Given the description of an element on the screen output the (x, y) to click on. 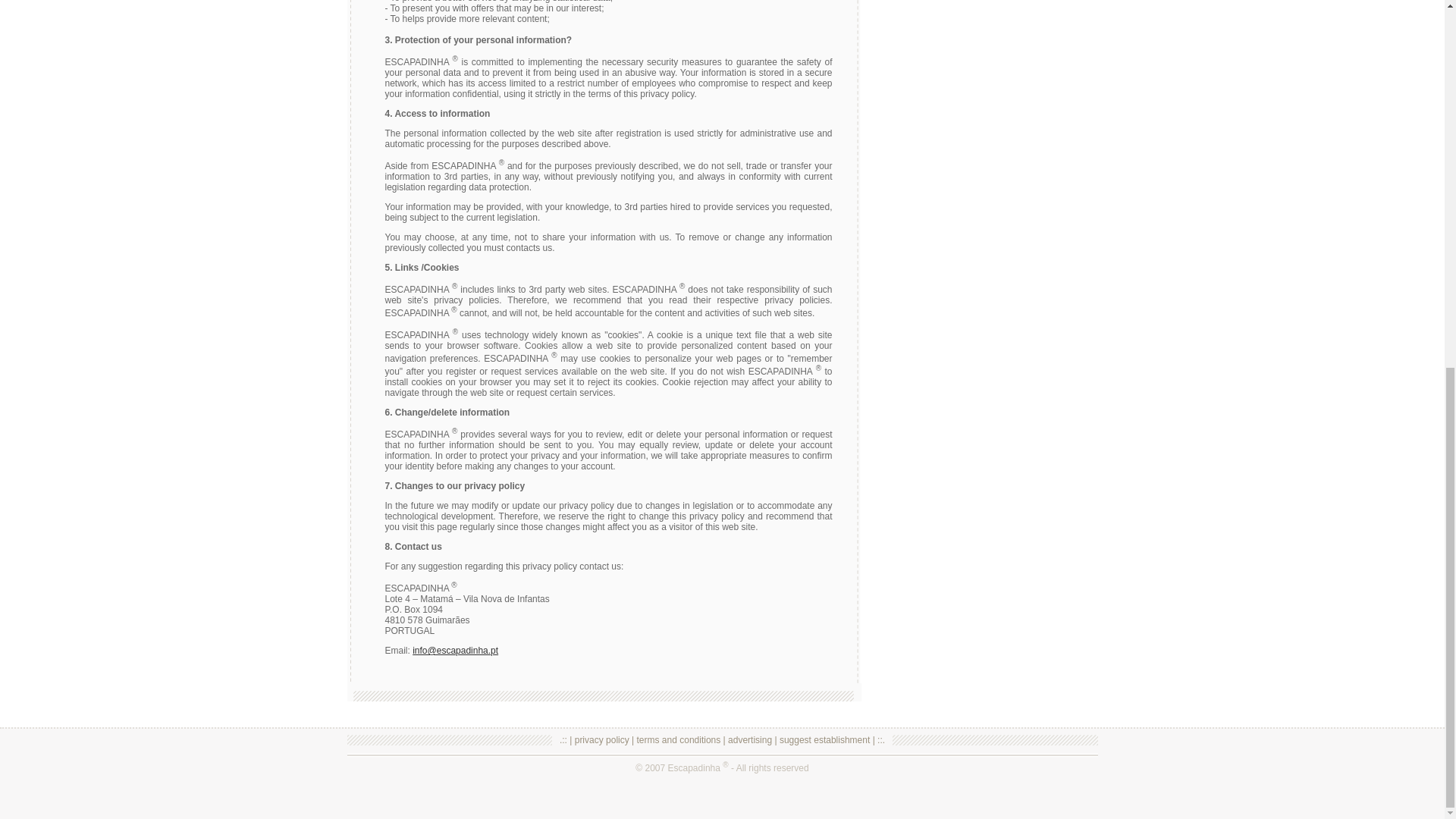
suggest establishment (823, 739)
terms and conditions (678, 739)
advertising (749, 739)
privacy policy (601, 739)
